Given the description of an element on the screen output the (x, y) to click on. 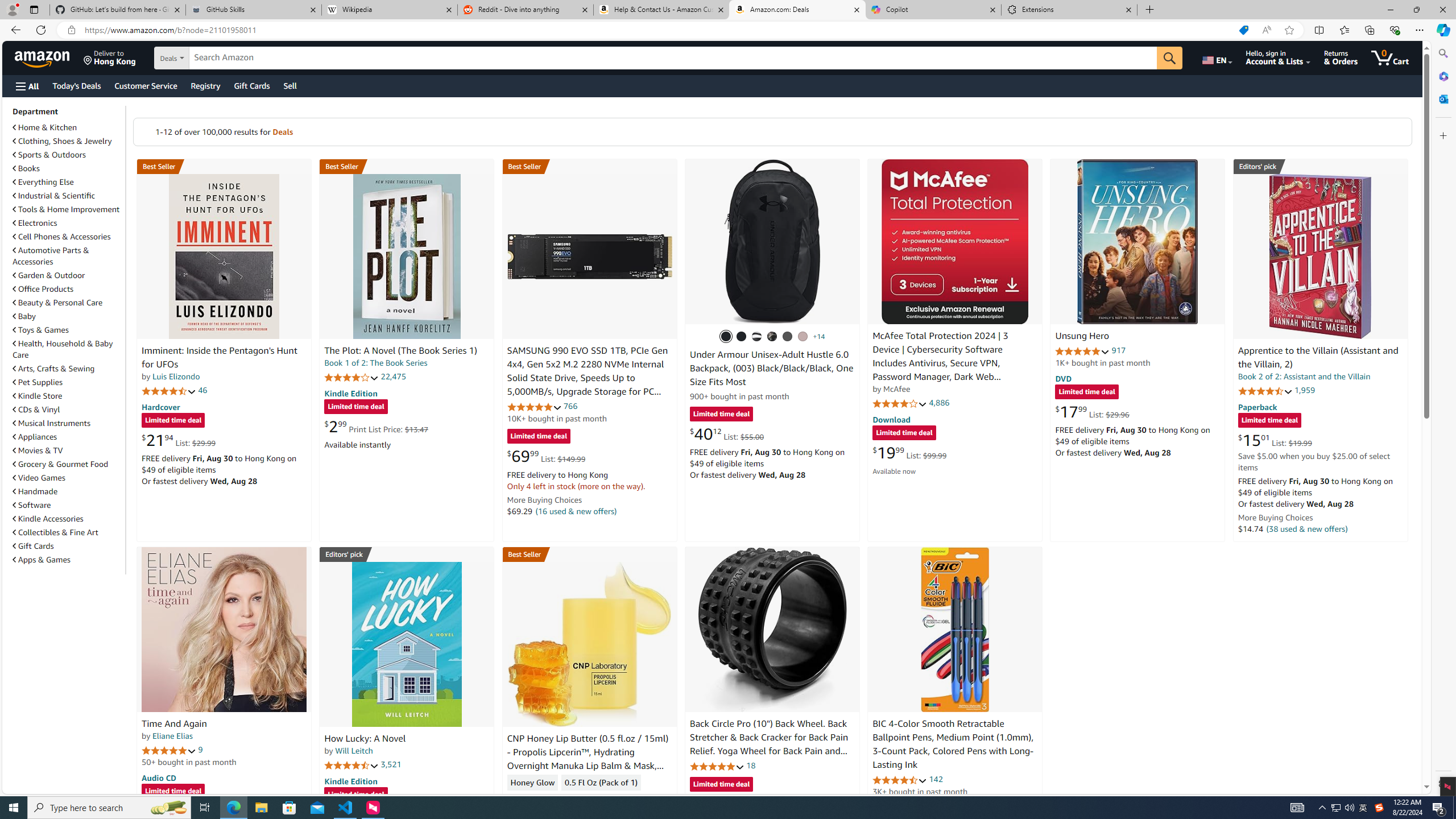
Everything Else (43, 181)
Office Products (43, 289)
$15.01 List: $19.99 (1274, 439)
How Lucky: A Novel (405, 644)
+14 (818, 336)
Kindle Store (67, 395)
Will Leitch (353, 750)
Appliances (34, 436)
Search in (210, 58)
Unsung Hero (1137, 241)
